Given the description of an element on the screen output the (x, y) to click on. 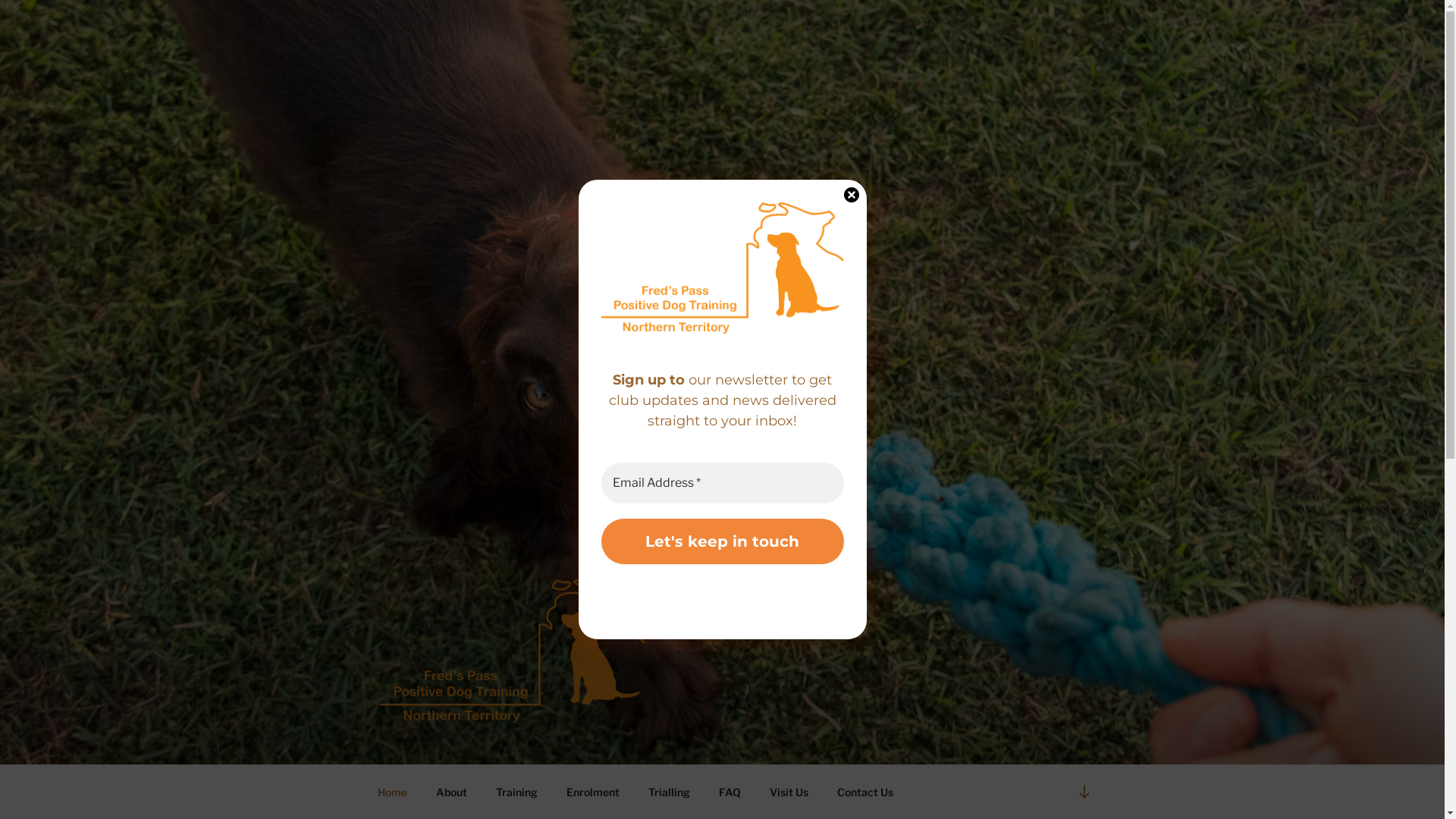
Let's keep in touch Element type: text (721, 541)
FAQ Element type: text (729, 791)
Visit Us Element type: text (789, 791)
FREDS PASS POSITIVE DOG TRAINING CLUB Element type: text (722, 744)
Enrolment Element type: text (593, 791)
Scroll down to content Element type: text (1083, 790)
About Element type: text (451, 791)
Email Address Element type: hover (721, 482)
Home Element type: text (392, 791)
Contact Us Element type: text (864, 791)
Trialling Element type: text (669, 791)
Training Element type: text (516, 791)
